Given the description of an element on the screen output the (x, y) to click on. 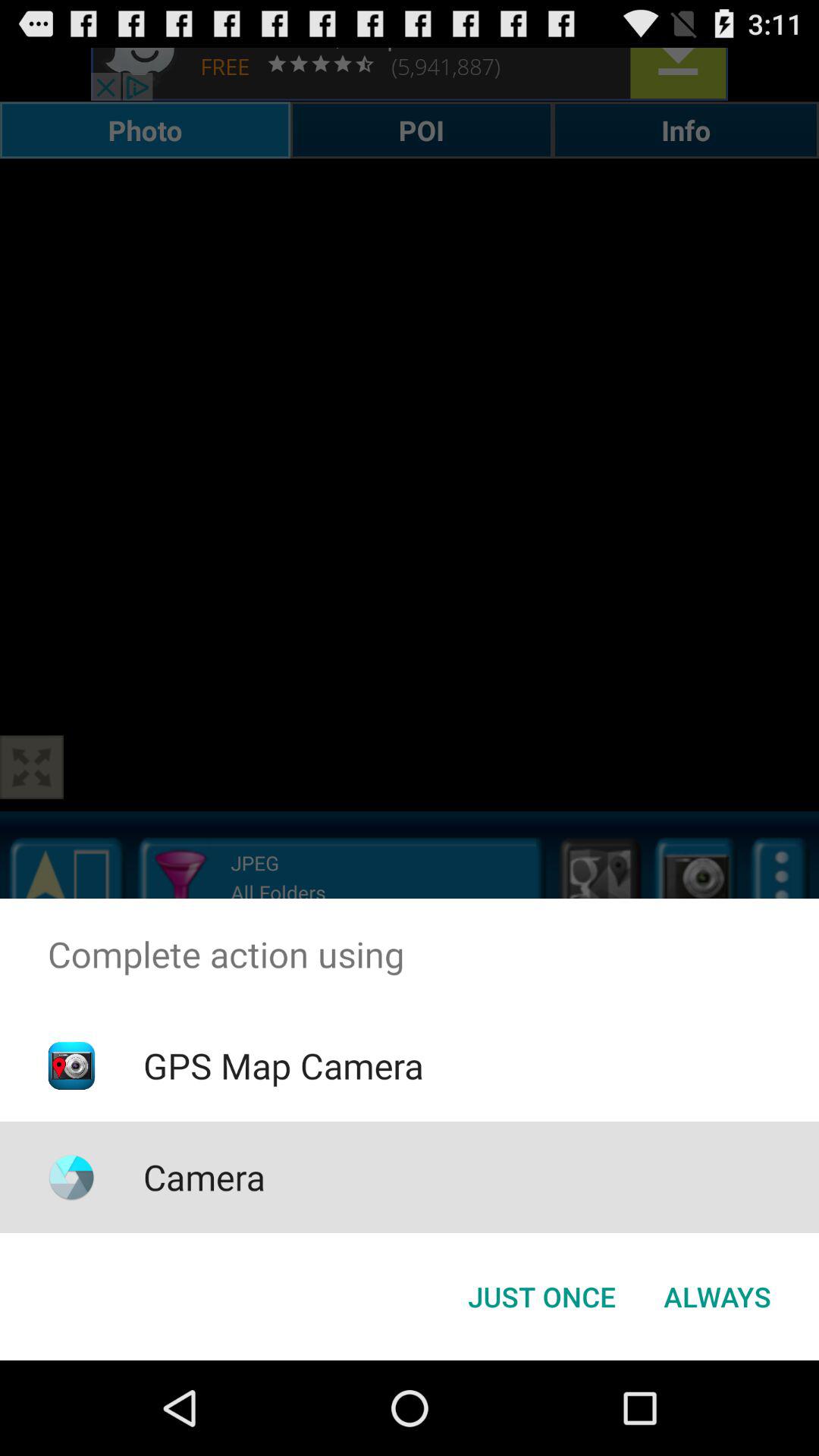
press the icon at the bottom right corner (717, 1296)
